Given the description of an element on the screen output the (x, y) to click on. 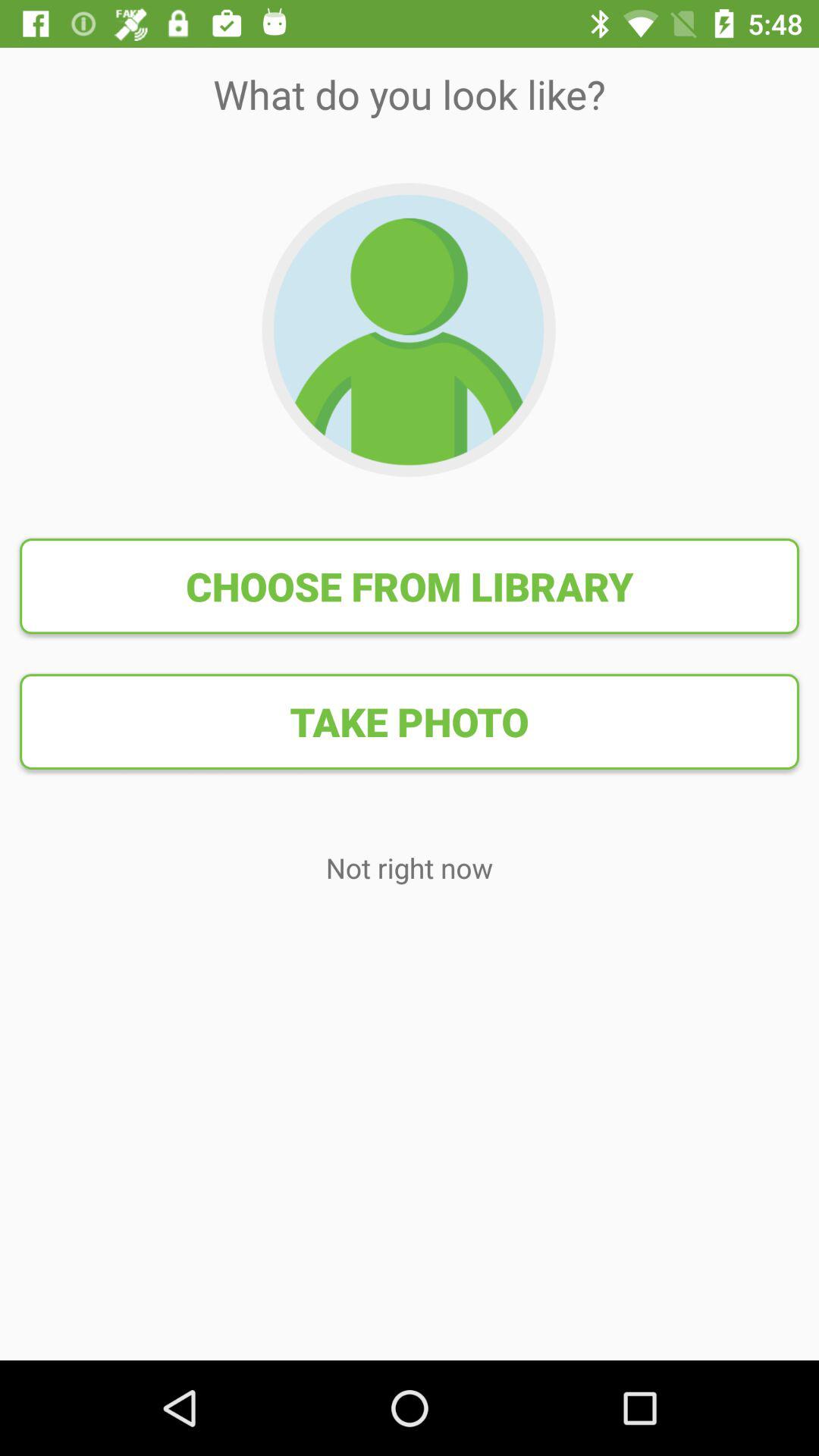
launch the not right now icon (409, 867)
